Given the description of an element on the screen output the (x, y) to click on. 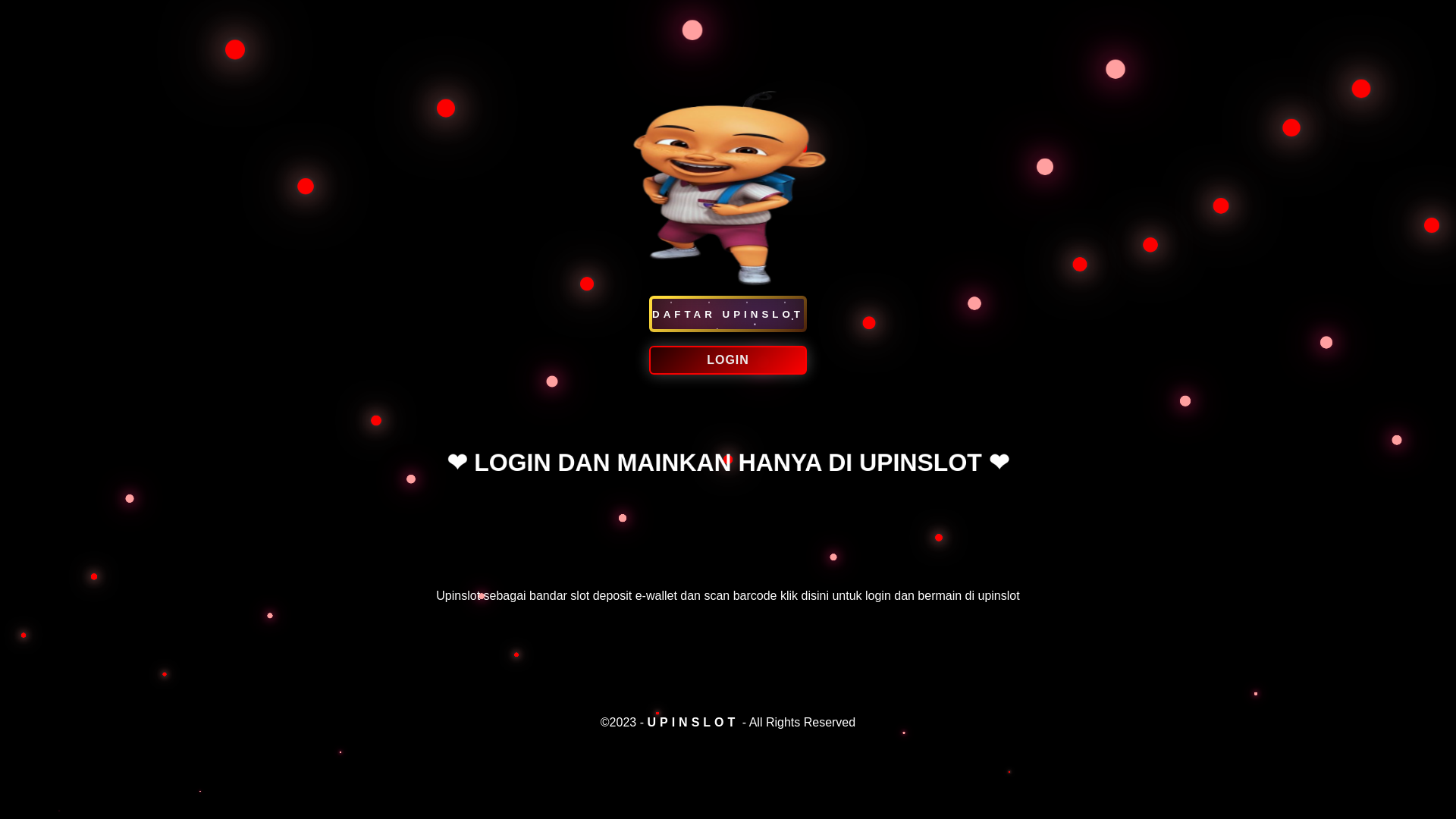
UPINSLOT (692, 721)
LOGIN (727, 383)
DAFTAR UPINSLOT (727, 313)
